Given the description of an element on the screen output the (x, y) to click on. 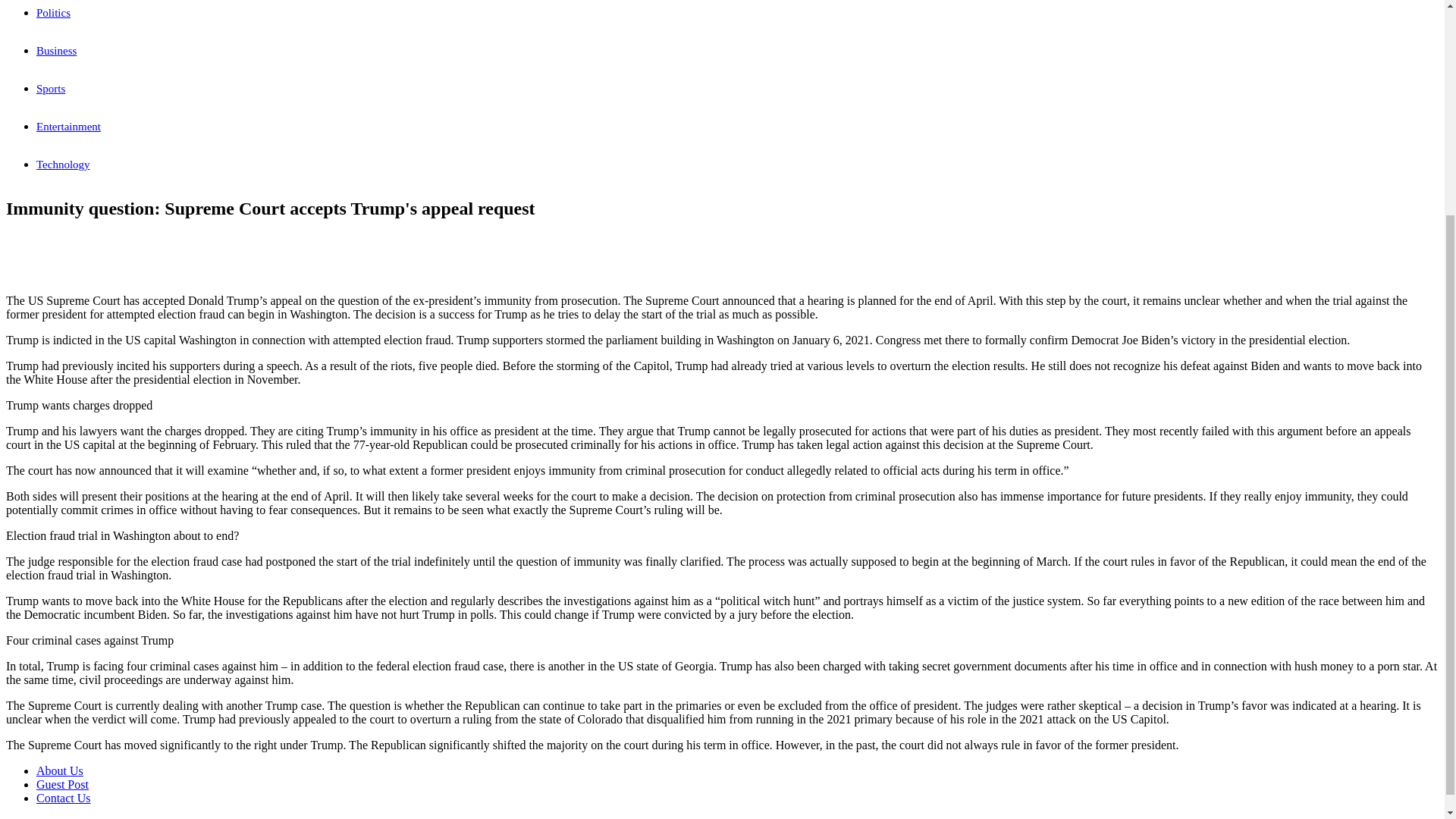
Entertainment (68, 126)
Contact Us (63, 797)
Technology (63, 164)
Guest Post (62, 784)
Sports (50, 88)
Politics (52, 12)
Business (56, 50)
About Us (59, 770)
